Given the description of an element on the screen output the (x, y) to click on. 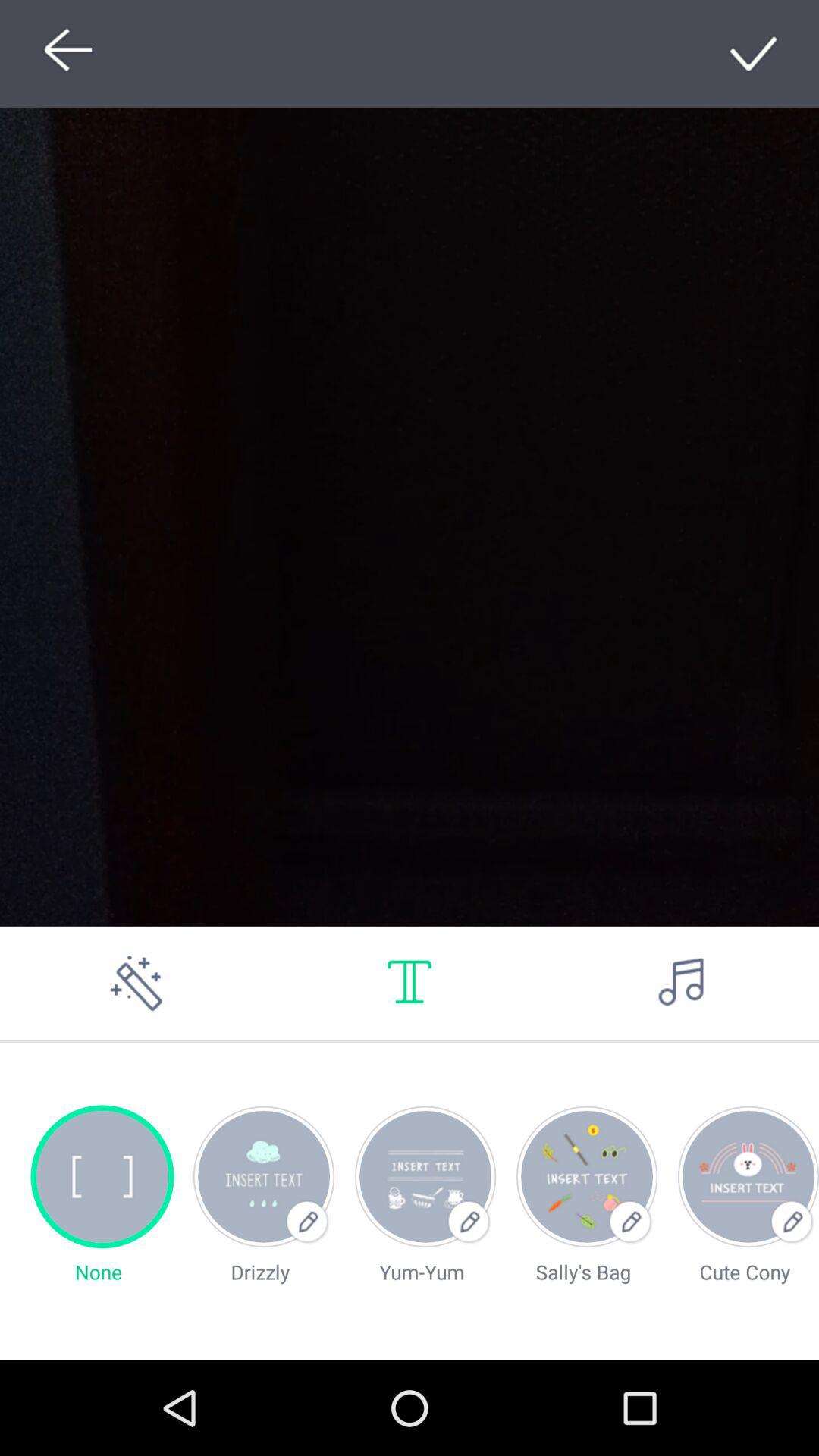
write text (409, 983)
